Given the description of an element on the screen output the (x, y) to click on. 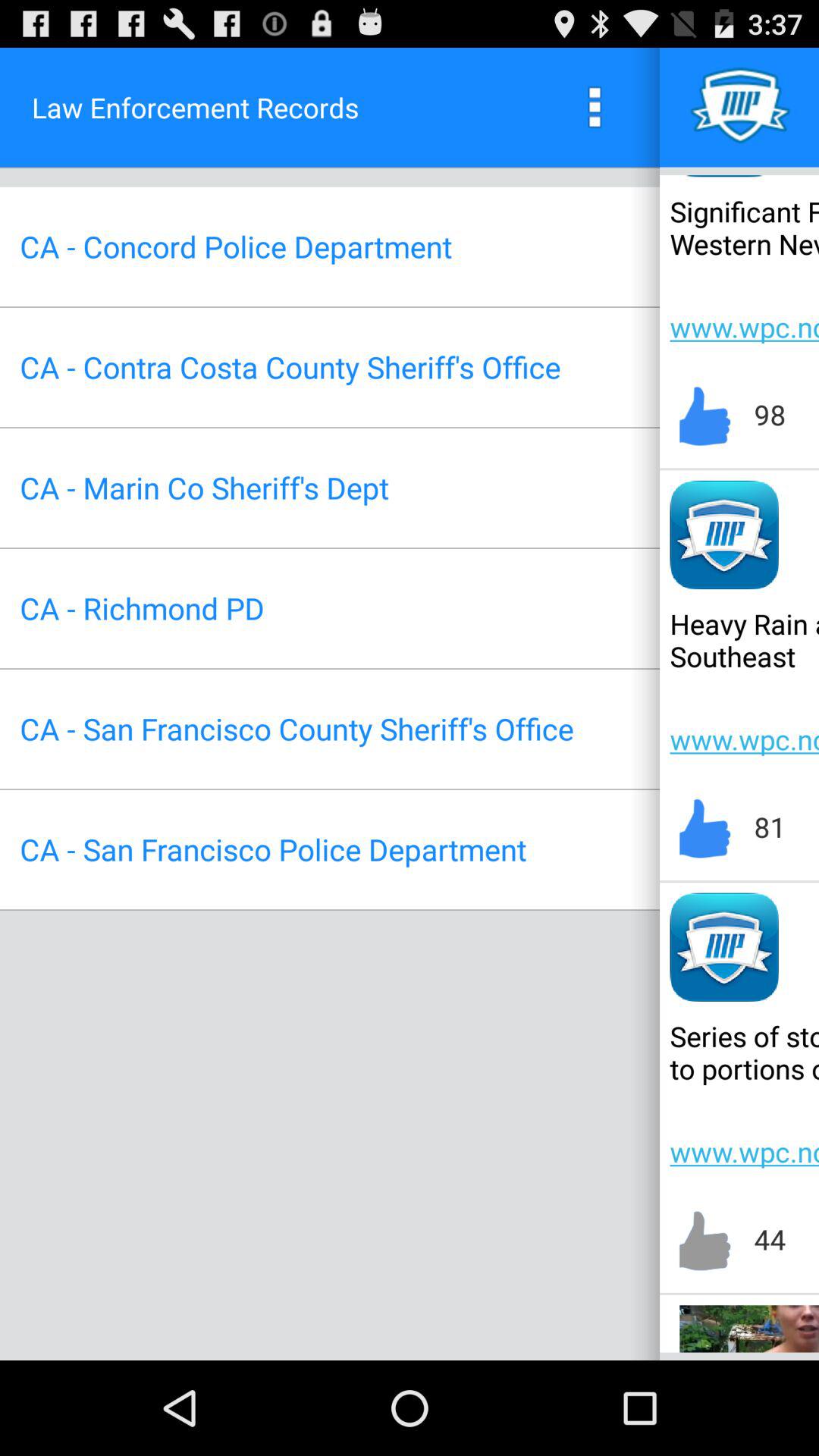
jump to the ca - richmond pd app (141, 608)
